Given the description of an element on the screen output the (x, y) to click on. 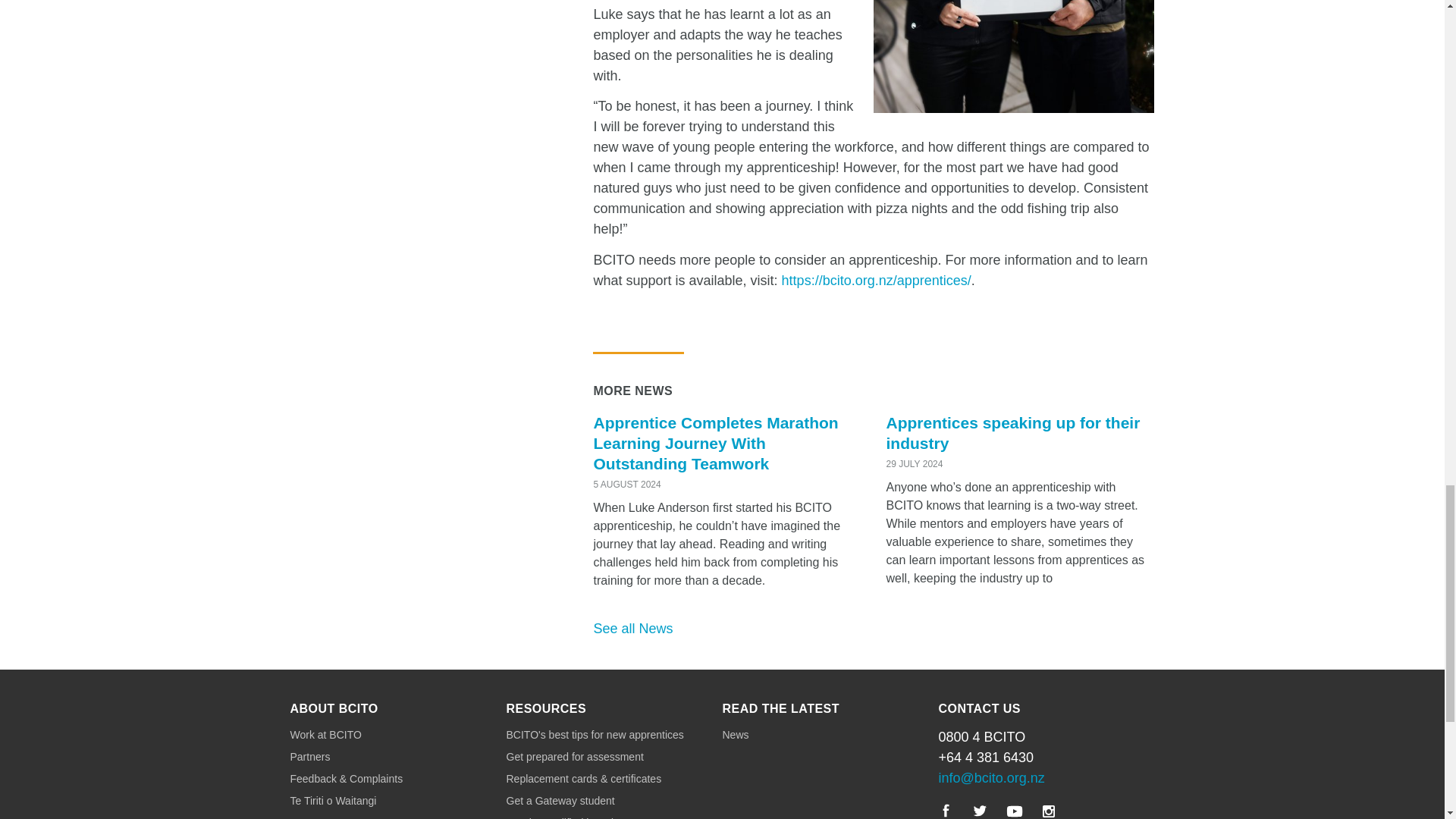
RESOURCES (546, 707)
ABOUT BCITO (333, 707)
YouTube (1015, 810)
Get a Gateway student (614, 801)
Get prepared for assessment (614, 756)
Facebook (947, 810)
Te Tiriti o Waitangi (397, 801)
BCITO's best tips for new apprentices (614, 734)
Apprentices speaking up for their industry (1012, 433)
Twitter (980, 810)
Partners (397, 756)
Get the qualified brand (614, 816)
Work at BCITO (397, 734)
See all News (632, 628)
